Given the description of an element on the screen output the (x, y) to click on. 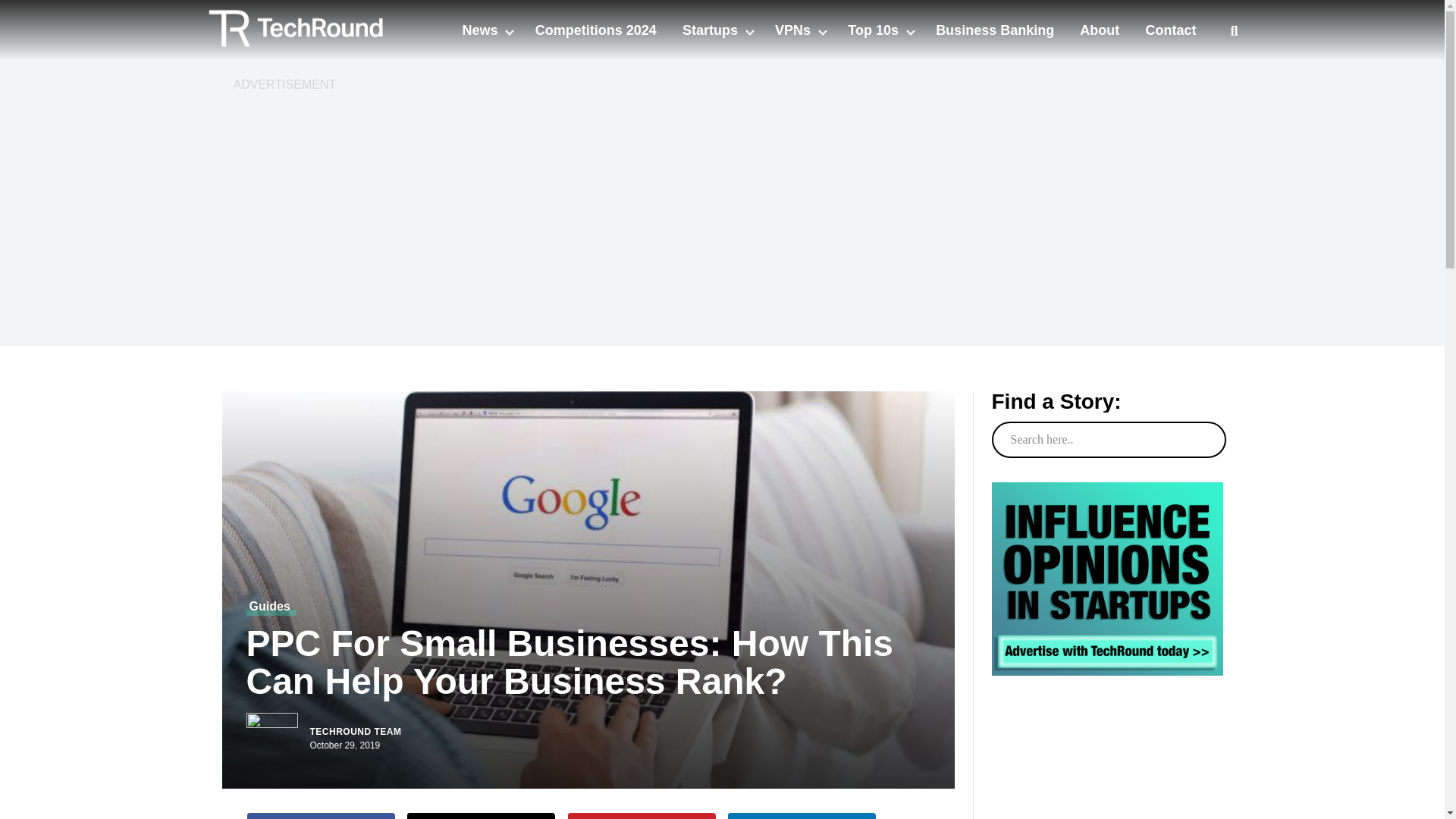
Startups (711, 30)
Share on X (480, 816)
Save to Pinterest (641, 816)
Share on Facebook (320, 816)
News (480, 30)
Competitions 2024 (596, 30)
Share on LinkedIn (802, 816)
VPNs (793, 30)
Top 10s (874, 30)
